Given the description of an element on the screen output the (x, y) to click on. 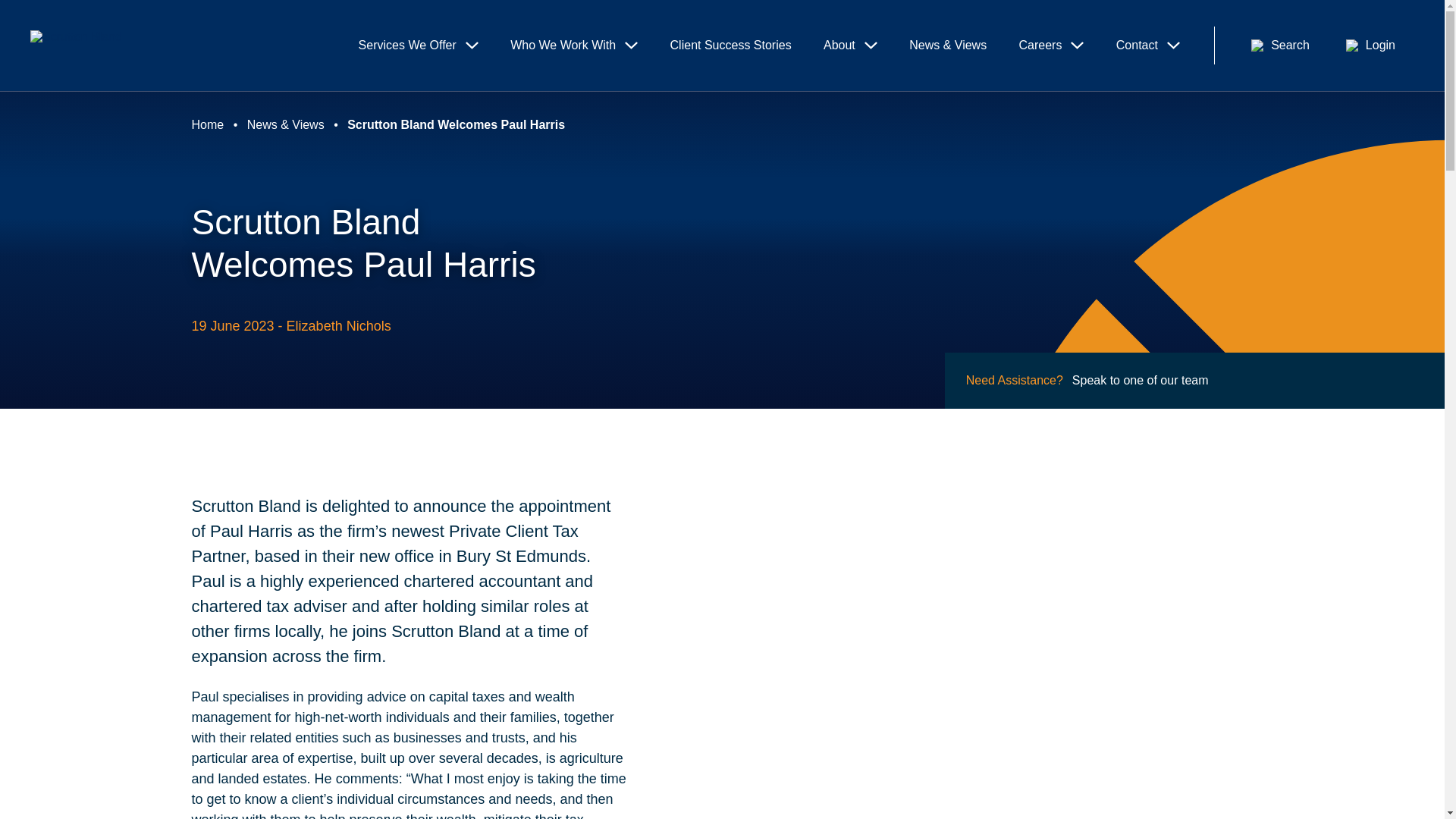
Services We Offer (418, 45)
Who We Work With (574, 45)
Careers (1051, 45)
Client Success Stories (729, 45)
About (850, 45)
